Given the description of an element on the screen output the (x, y) to click on. 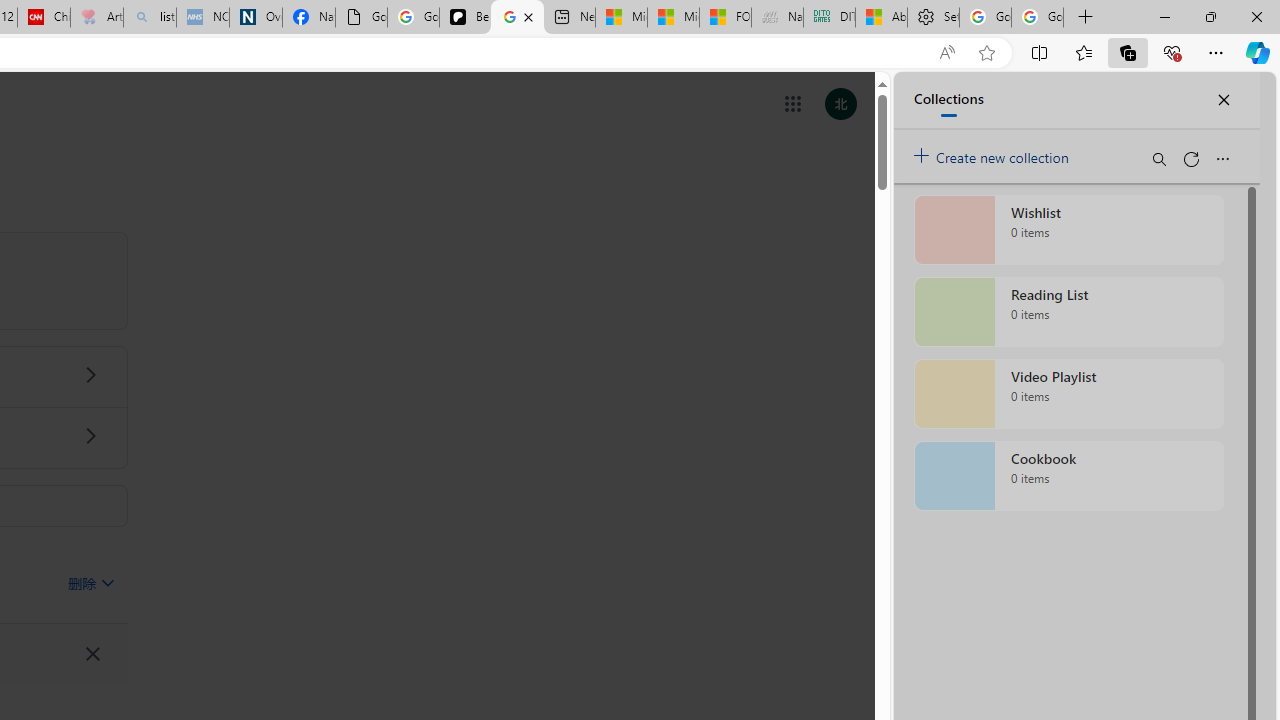
FOX News - MSN (725, 17)
Navy Quest (776, 17)
NCL Adult Asthma Inhaler Choice Guideline - Sleeping (202, 17)
New tab (569, 17)
Arthritis: Ask Health Professionals - Sleeping (96, 17)
